Given the description of an element on the screen output the (x, y) to click on. 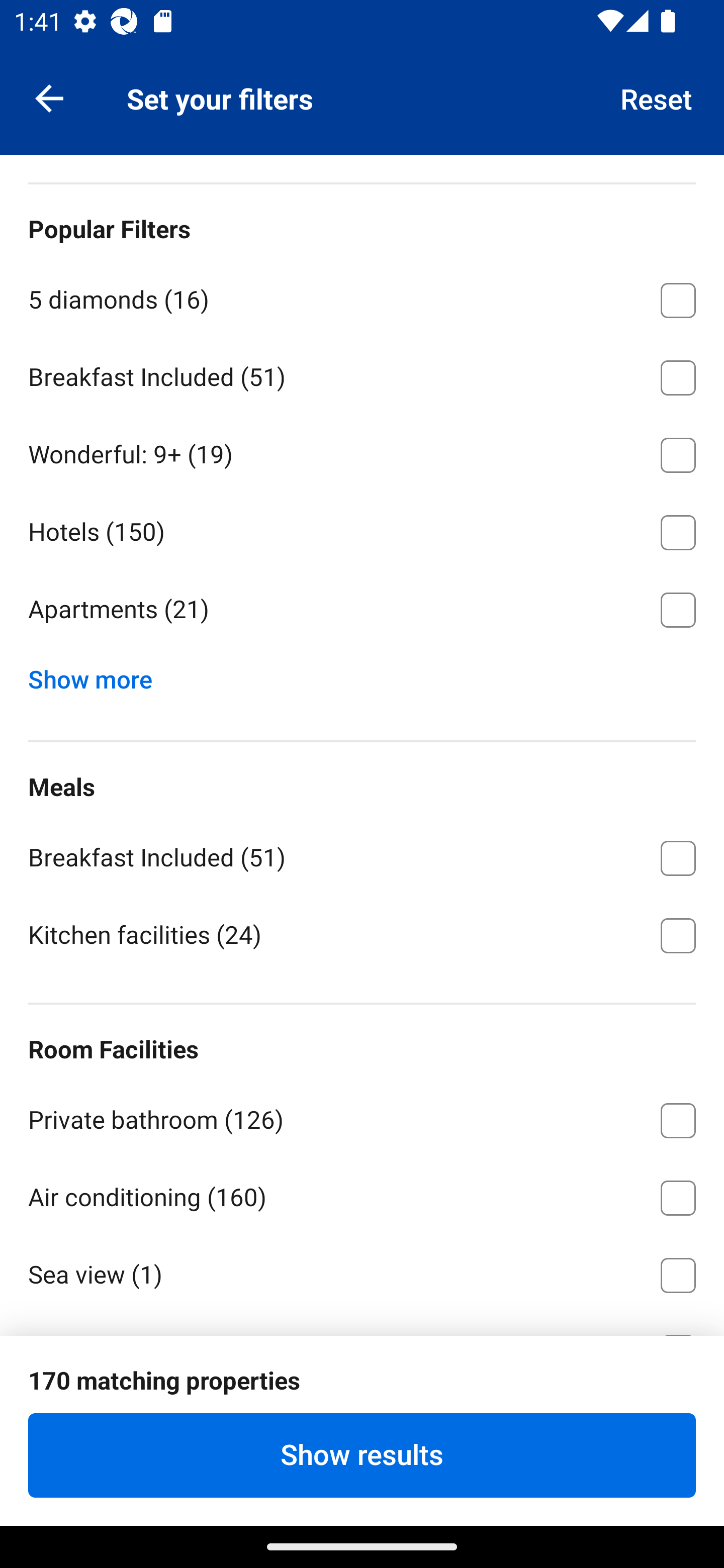
Navigate up (49, 97)
Reset (656, 97)
5 diamonds ⁦(16) (361, 296)
Breakfast Included ⁦(51) (361, 373)
Wonderful: 9+ ⁦(19) (361, 451)
Hotels ⁦(150) (361, 528)
Apartments ⁦(21) (361, 609)
Show more (97, 674)
Breakfast Included ⁦(51) (361, 854)
Kitchen facilities ⁦(24) (361, 933)
Private bathroom ⁦(126) (361, 1116)
Air conditioning ⁦(160) (361, 1194)
Sea view ⁦(1) (361, 1272)
Show results (361, 1454)
